Given the description of an element on the screen output the (x, y) to click on. 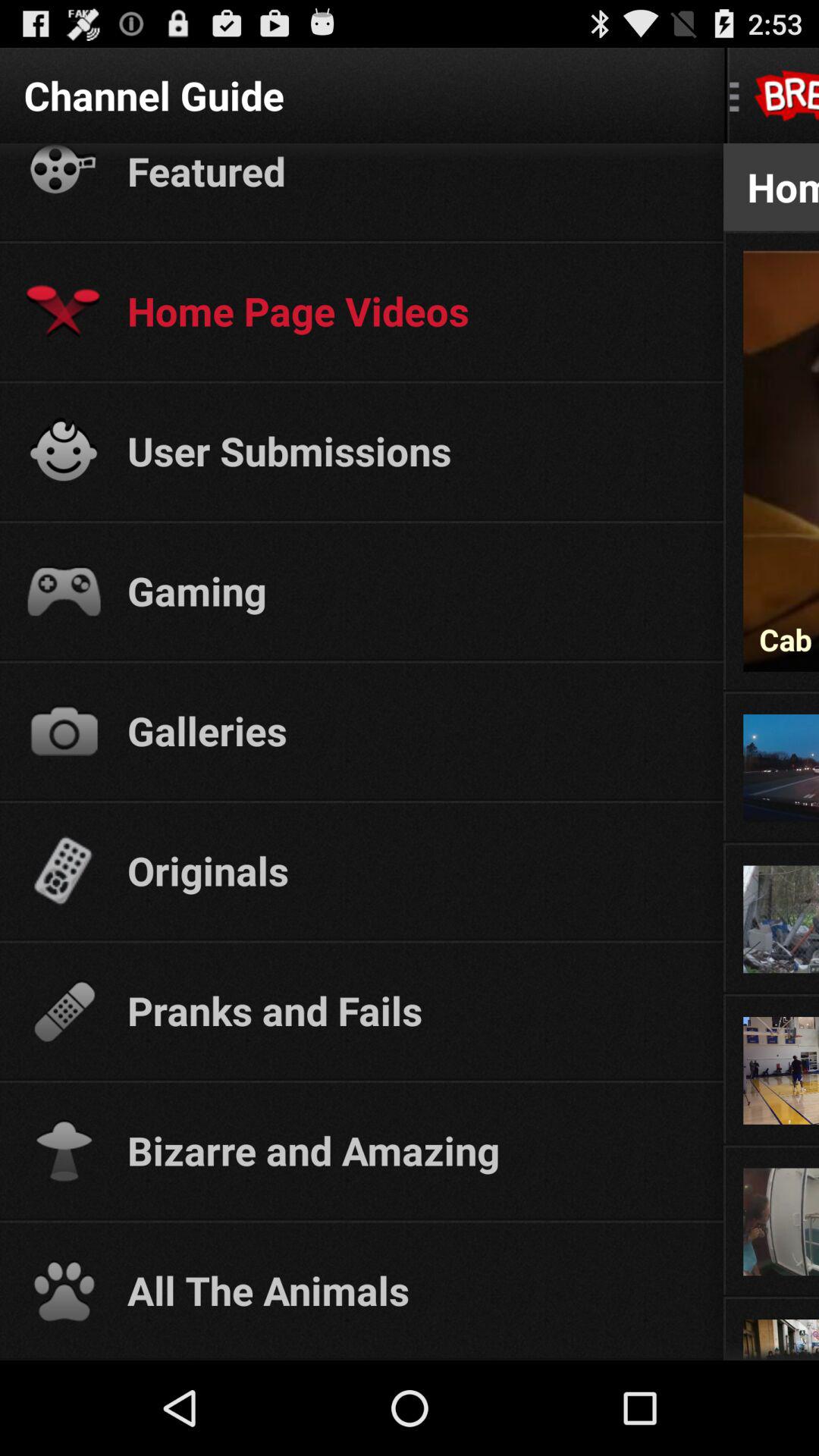
tap the icon next to the originals app (771, 843)
